Given the description of an element on the screen output the (x, y) to click on. 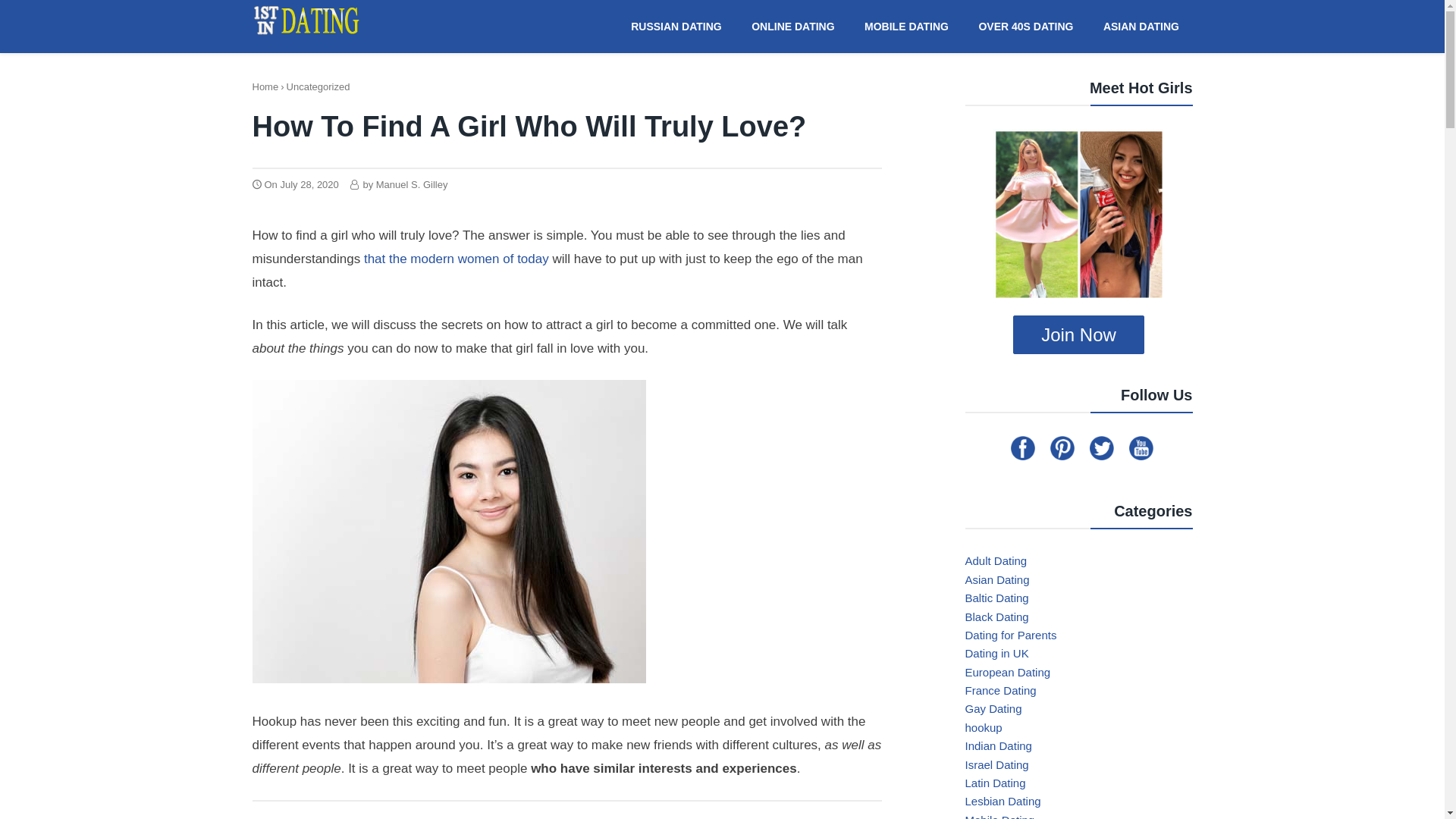
Indian Dating Element type: text (997, 745)
Israel Dating Element type: text (996, 764)
Asian Dating Element type: text (996, 579)
Dating for Parents Element type: text (1010, 634)
Manuel S. Gilley Element type: text (412, 184)
Baltic Dating Element type: text (996, 597)
that the modern women of today Element type: text (454, 258)
Gay Dating Element type: text (992, 708)
Black Dating Element type: text (996, 615)
MOBILE DATING Element type: text (906, 25)
Join Now Element type: text (1078, 334)
RUSSIAN DATING Element type: text (676, 25)
France Dating Element type: text (999, 690)
Home Element type: text (264, 86)
Adult Dating Element type: text (995, 560)
Lesbian Dating Element type: text (1002, 800)
OVER 40S DATING Element type: text (1025, 25)
Uncategorized Element type: text (318, 86)
hookup Element type: text (982, 727)
European Dating Element type: text (1007, 671)
Dating in UK Element type: text (996, 652)
ASIAN DATING Element type: text (1140, 25)
ONLINE DATING Element type: text (792, 25)
Latin Dating Element type: text (994, 782)
July 28, 2020 Element type: text (308, 184)
